Given the description of an element on the screen output the (x, y) to click on. 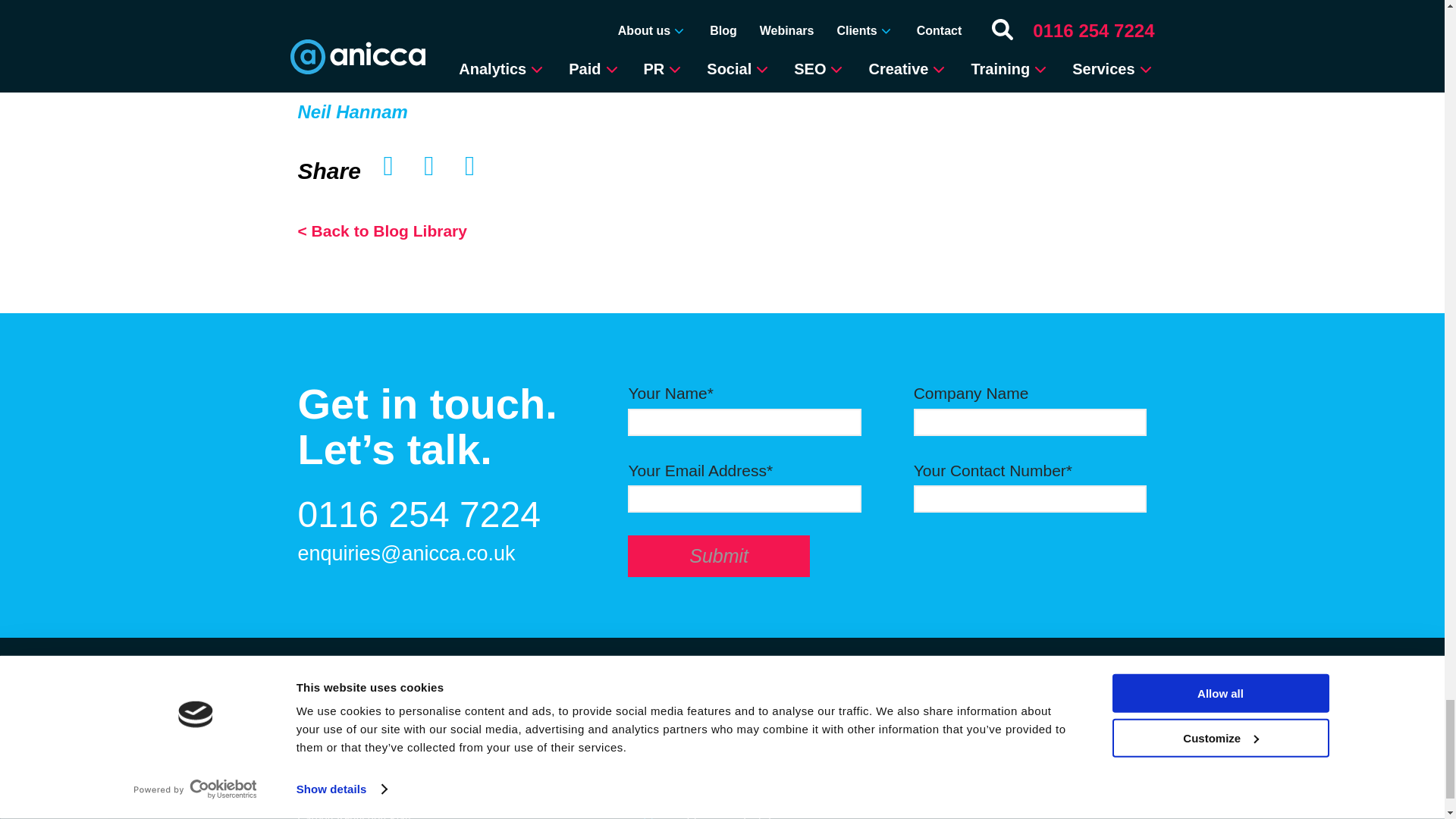
Submit (718, 556)
